Given the description of an element on the screen output the (x, y) to click on. 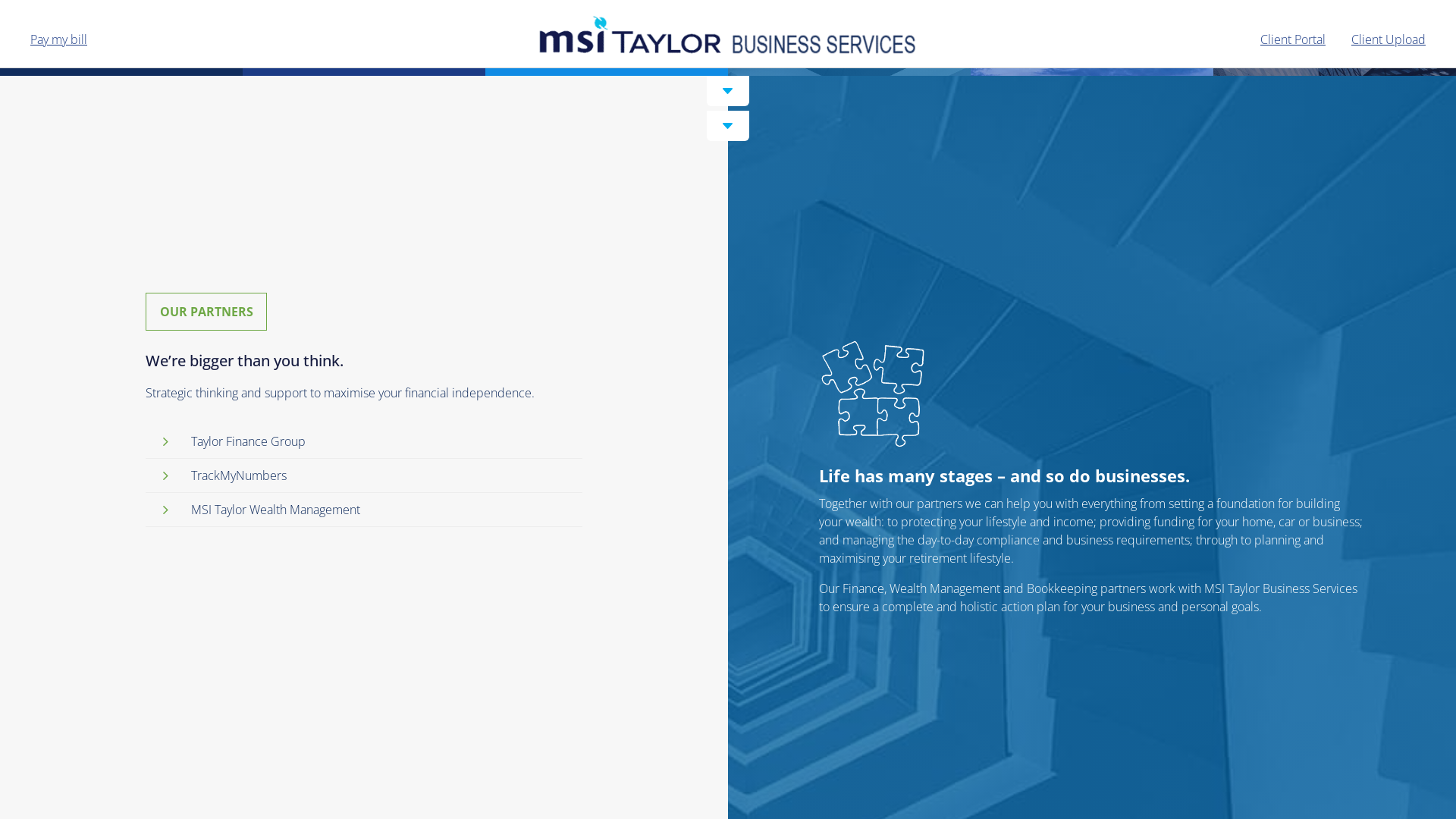
Resources Element type: text (1091, 26)
Pay my bill Element type: text (58, 39)
What we do Element type: text (121, 26)
Get in touch Element type: text (1334, 26)
Our partners Element type: text (849, 26)
Client Portal Element type: text (1292, 39)
Client Upload Element type: text (1388, 39)
What defines us Element type: text (363, 26)
MSI-Taylor-Business-Services2 Element type: hover (727, 35)
Our team Element type: text (606, 26)
